Given the description of an element on the screen output the (x, y) to click on. 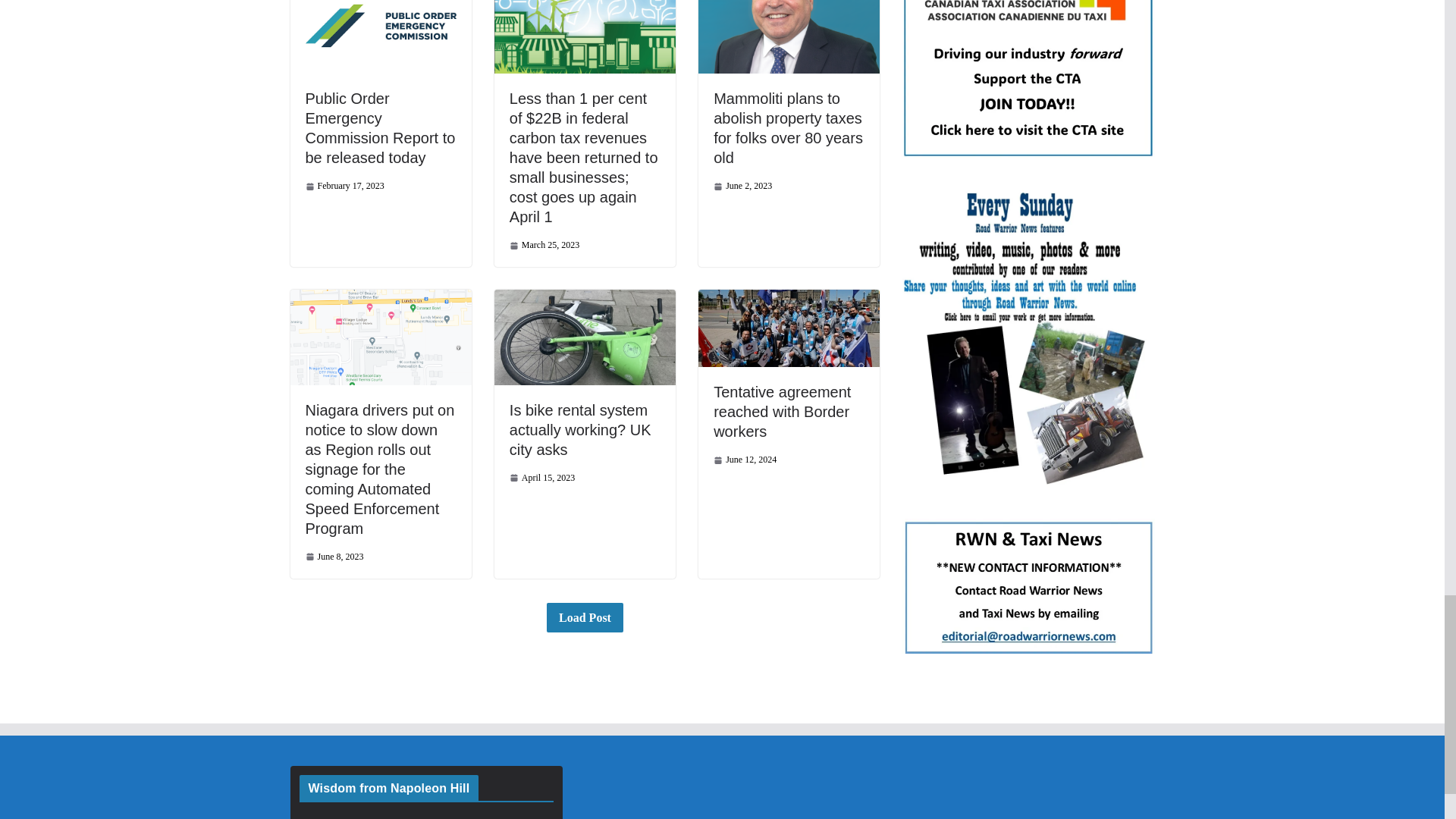
March 25, 2023 (544, 245)
February 17, 2023 (344, 185)
